Given the description of an element on the screen output the (x, y) to click on. 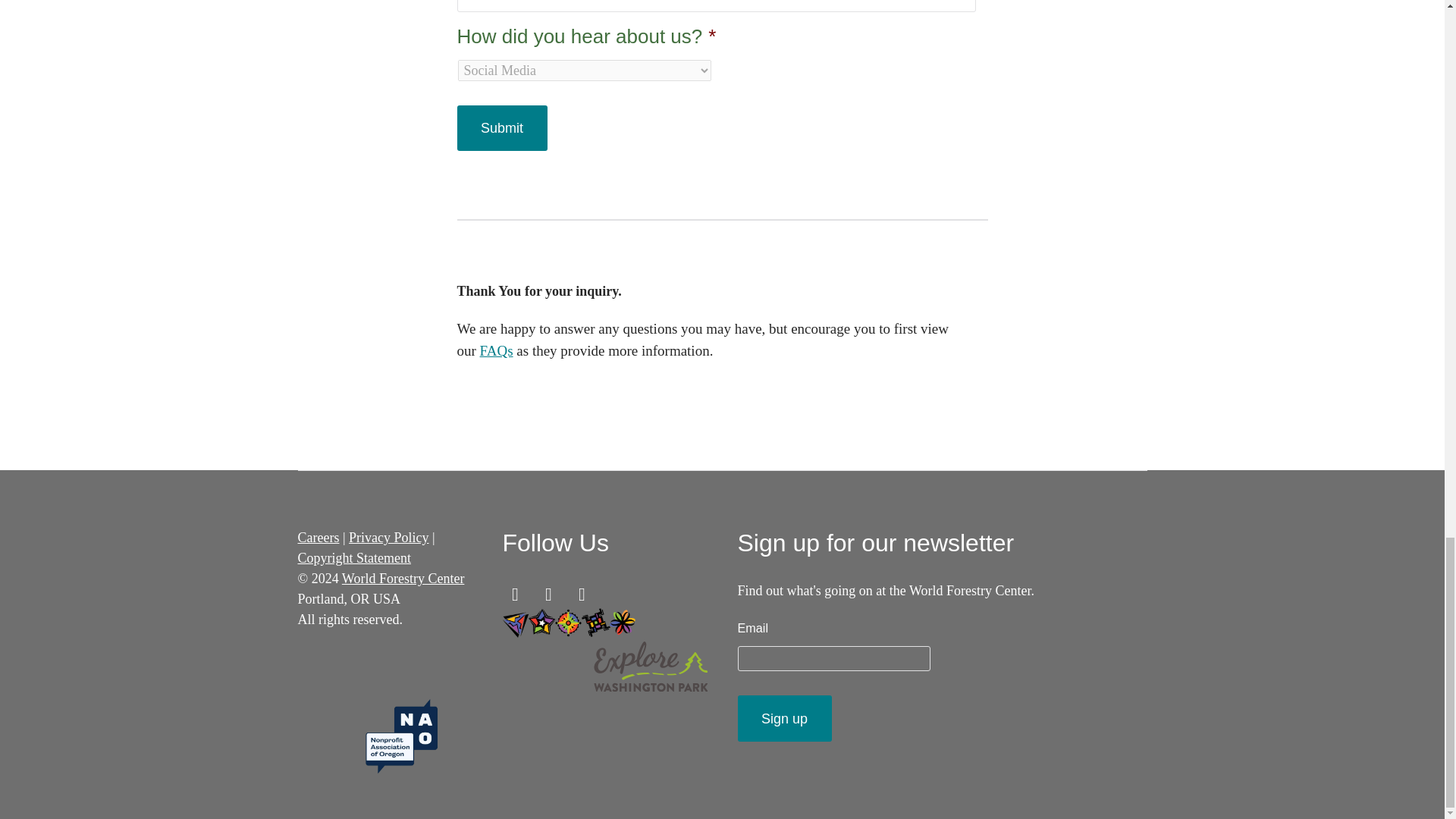
Submit (502, 127)
Sign up (783, 718)
